Given the description of an element on the screen output the (x, y) to click on. 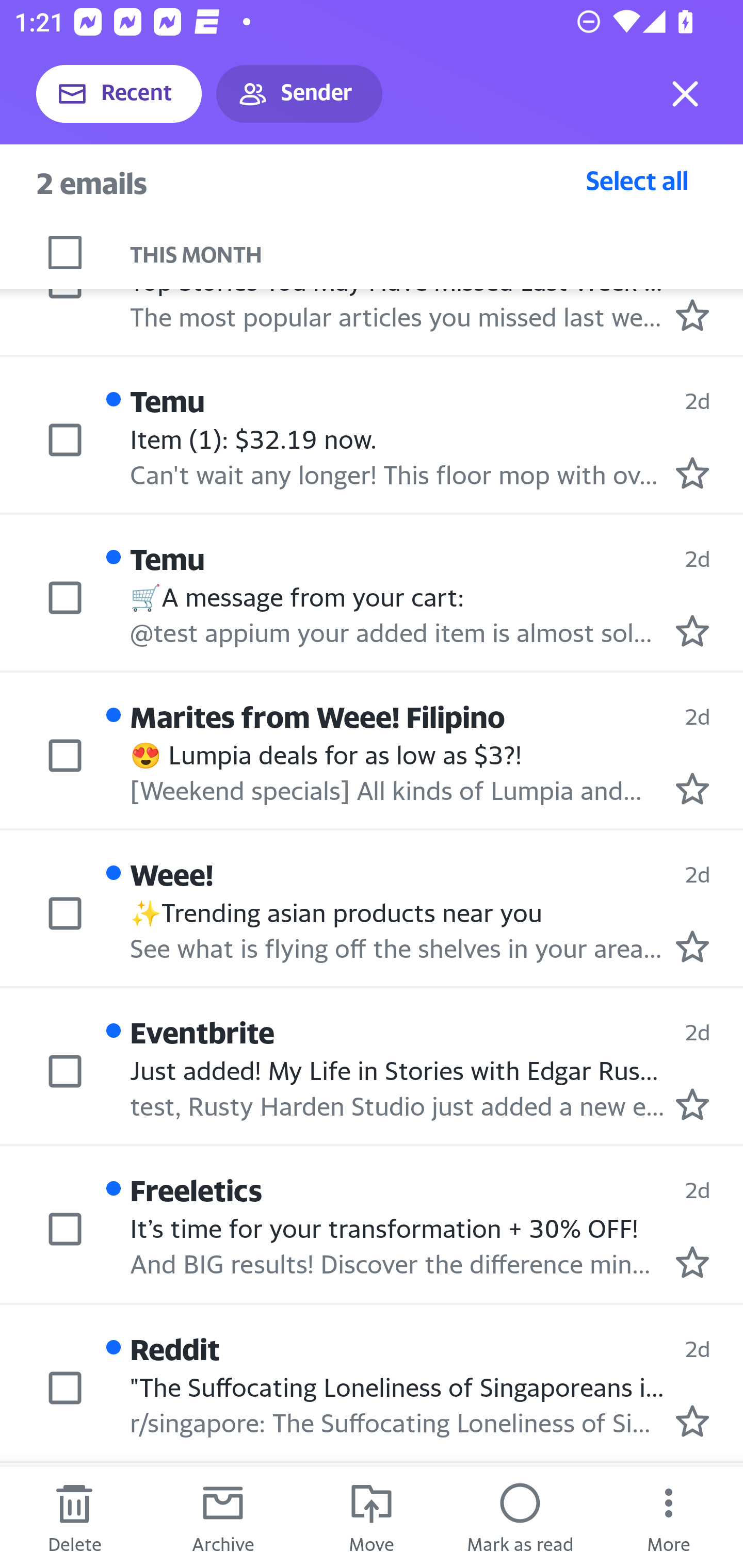
Sender (299, 93)
Exit selection mode (684, 93)
Select all (637, 180)
Mark as starred. (692, 314)
Mark as starred. (692, 472)
Mark as starred. (692, 631)
Mark as starred. (692, 787)
Mark as starred. (692, 946)
Mark as starred. (692, 1104)
Mark as starred. (692, 1261)
Mark as starred. (692, 1421)
Delete (74, 1517)
Archive (222, 1517)
Move (371, 1517)
Mark as read (519, 1517)
More (668, 1517)
